Given the description of an element on the screen output the (x, y) to click on. 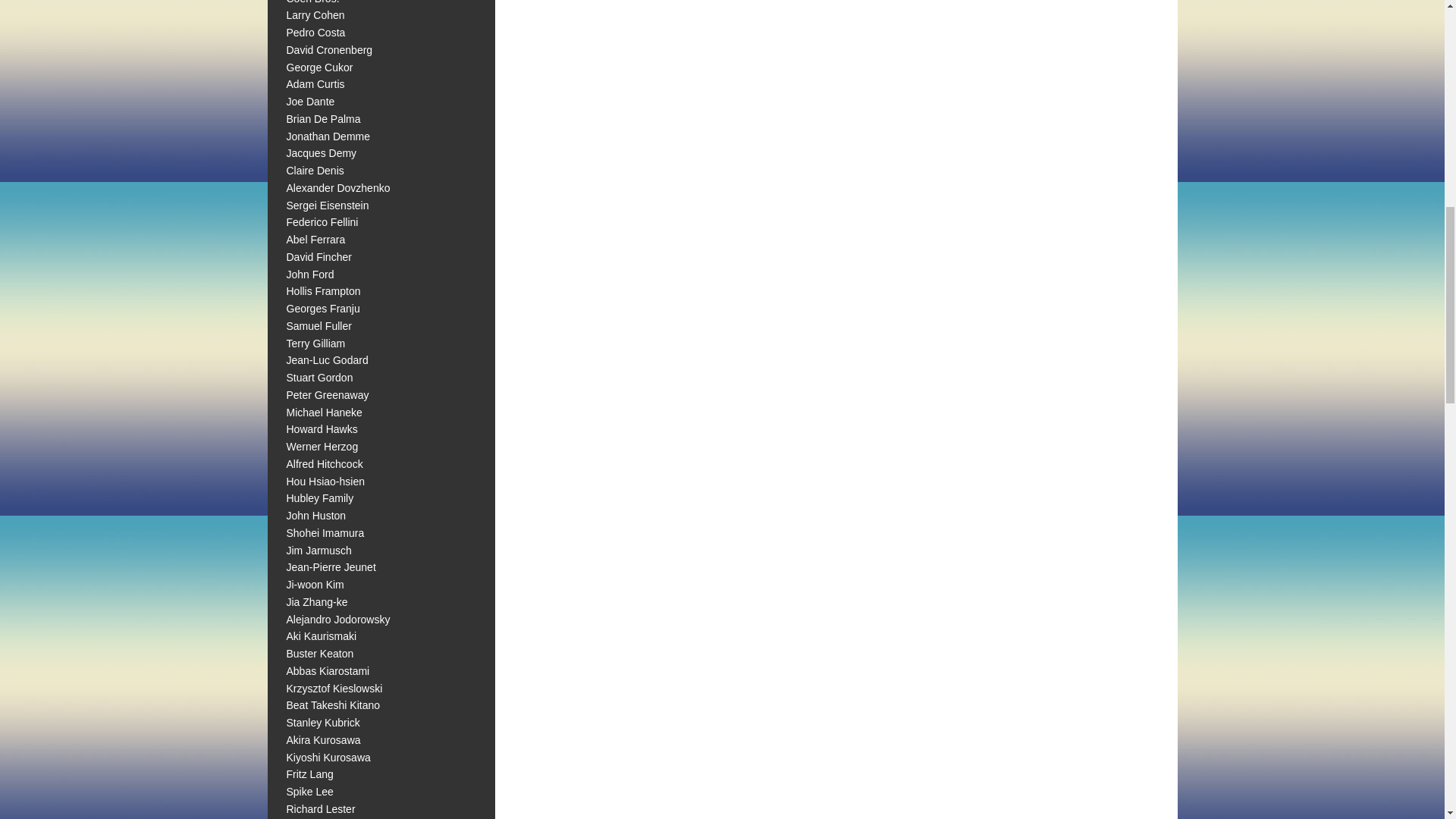
Joe Dante (310, 101)
Sergei Eisenstein (327, 204)
David Cronenberg (329, 50)
Coen Bros. (312, 2)
Alexander Dovzhenko (338, 187)
Jacques Demy (321, 152)
Larry Cohen (315, 15)
Brian De Palma (323, 119)
Pedro Costa (316, 32)
George Cukor (319, 66)
Claire Denis (314, 170)
Federico Fellini (322, 222)
Jonathan Demme (328, 136)
Adam Curtis (315, 83)
